Given the description of an element on the screen output the (x, y) to click on. 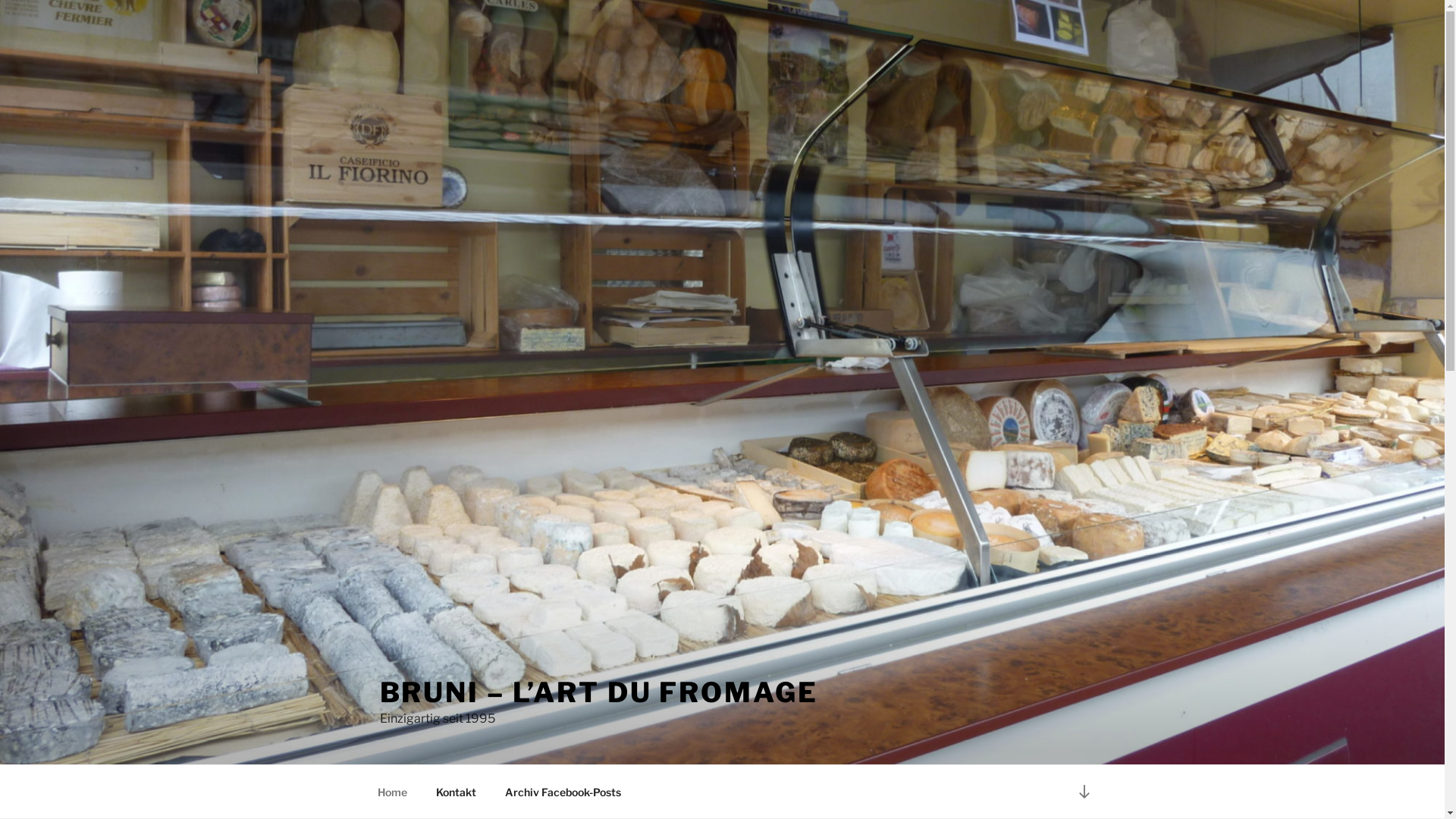
Home Element type: text (392, 791)
Kontakt Element type: text (456, 791)
Zum Inhalt nach unten scrollen Element type: text (1083, 790)
Archiv Facebook-Posts Element type: text (562, 791)
